Given the description of an element on the screen output the (x, y) to click on. 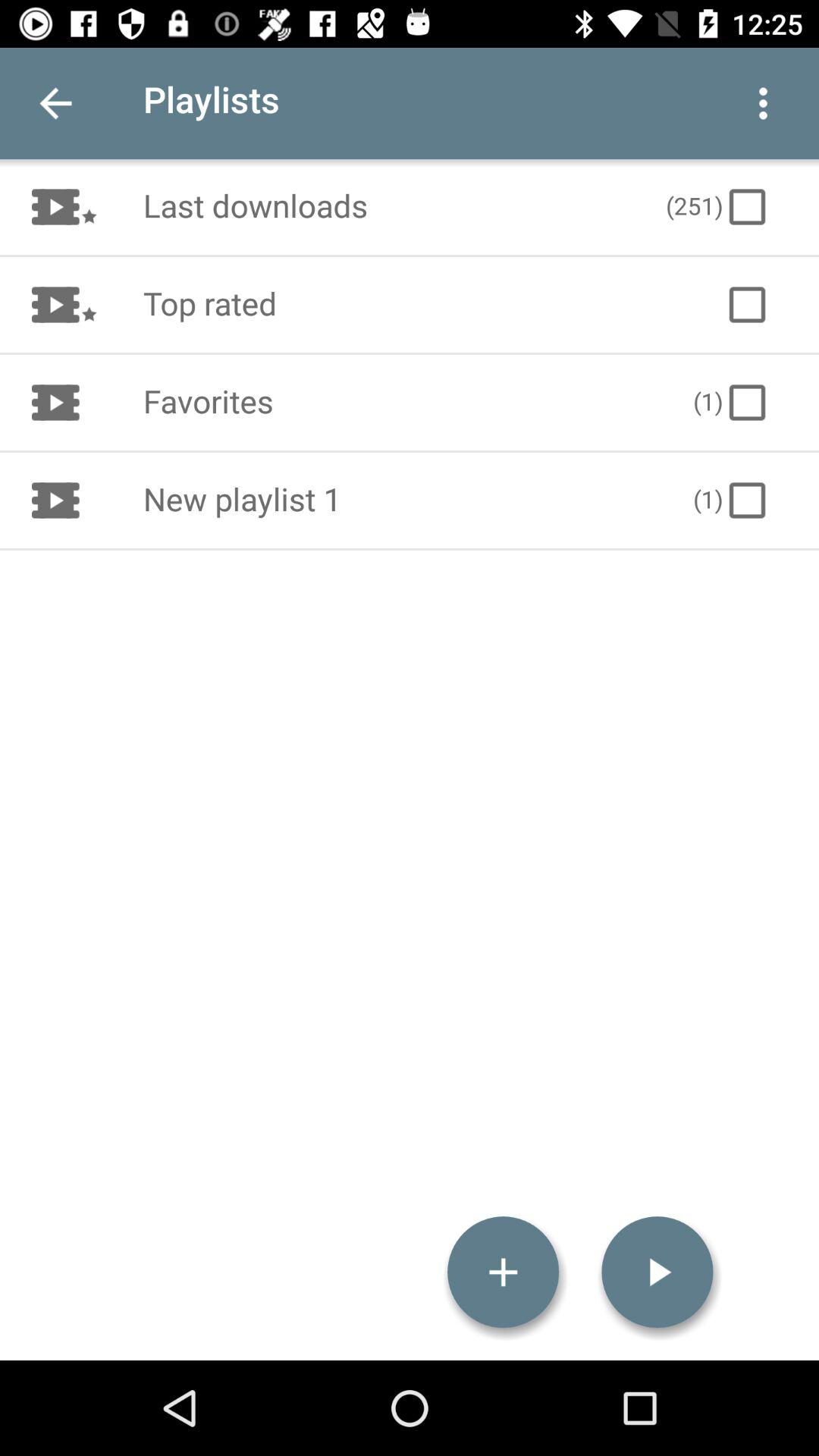
open item at the center (402, 500)
